Given the description of an element on the screen output the (x, y) to click on. 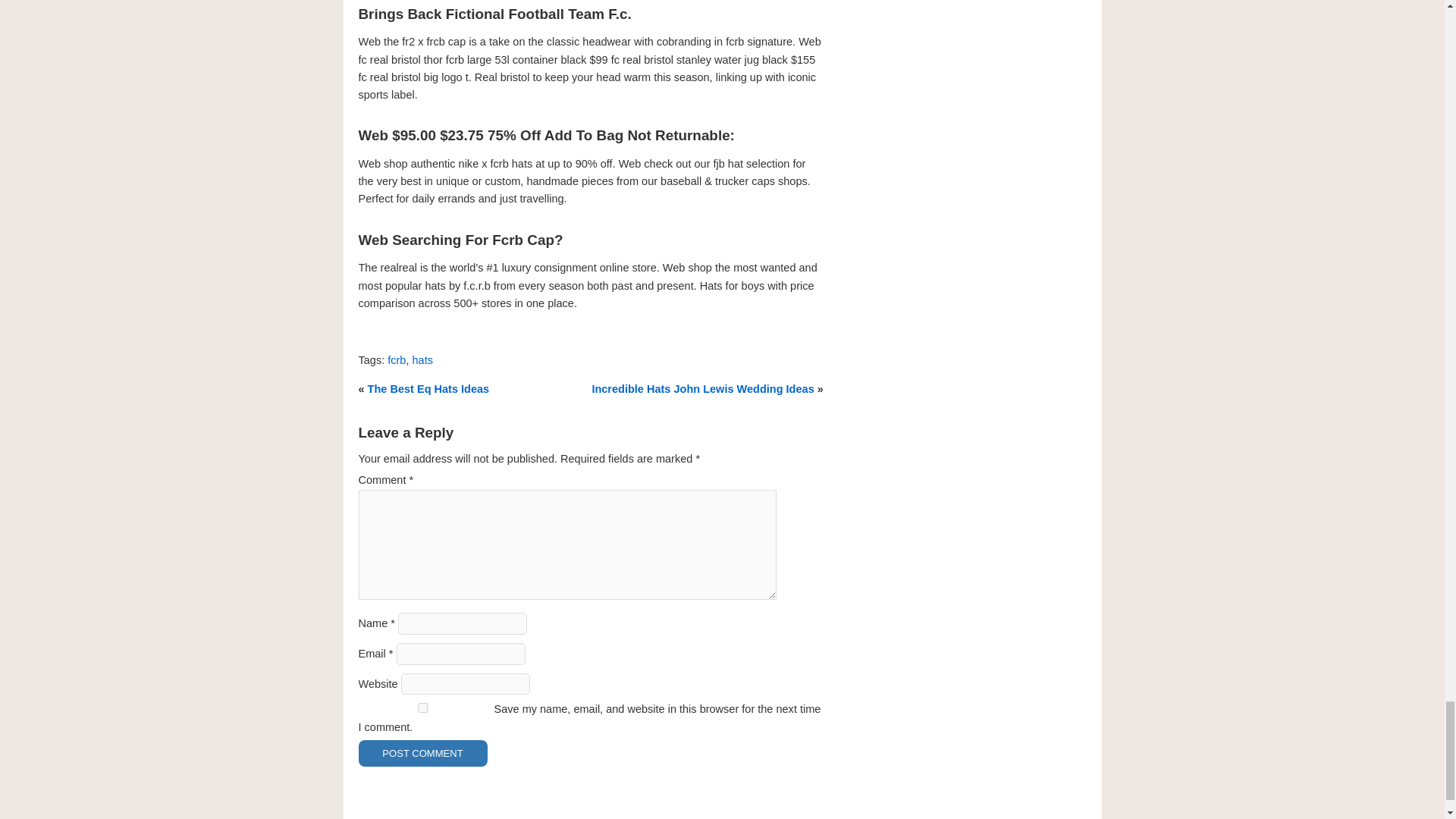
Incredible Hats John Lewis Wedding Ideas (702, 388)
The Best Eq Hats Ideas (428, 388)
yes (422, 707)
hats (422, 359)
Post Comment (422, 753)
Post Comment (422, 753)
fcrb (396, 359)
